Given the description of an element on the screen output the (x, y) to click on. 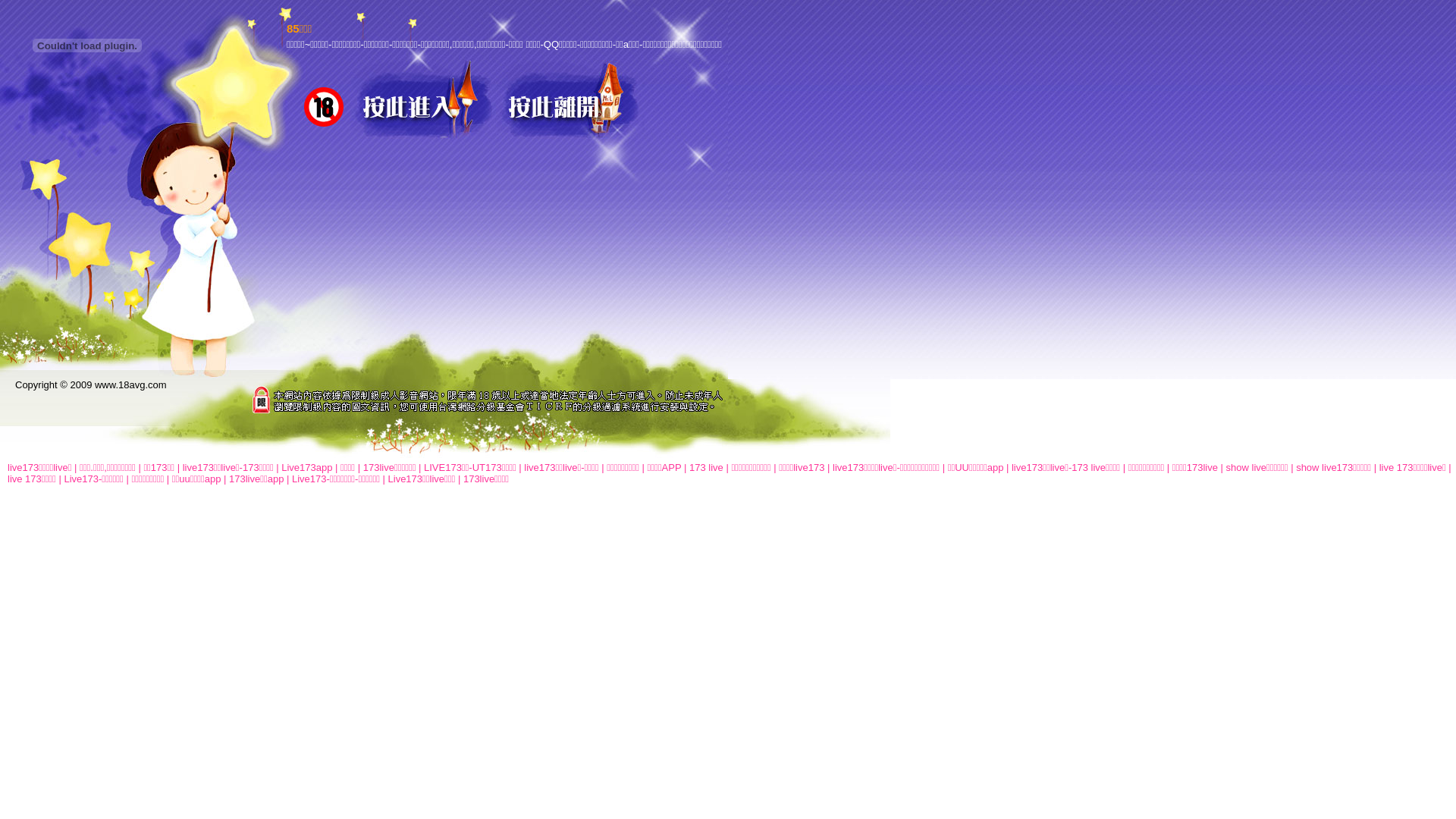
173 live Element type: text (706, 467)
Live173app Element type: text (306, 467)
